Given the description of an element on the screen output the (x, y) to click on. 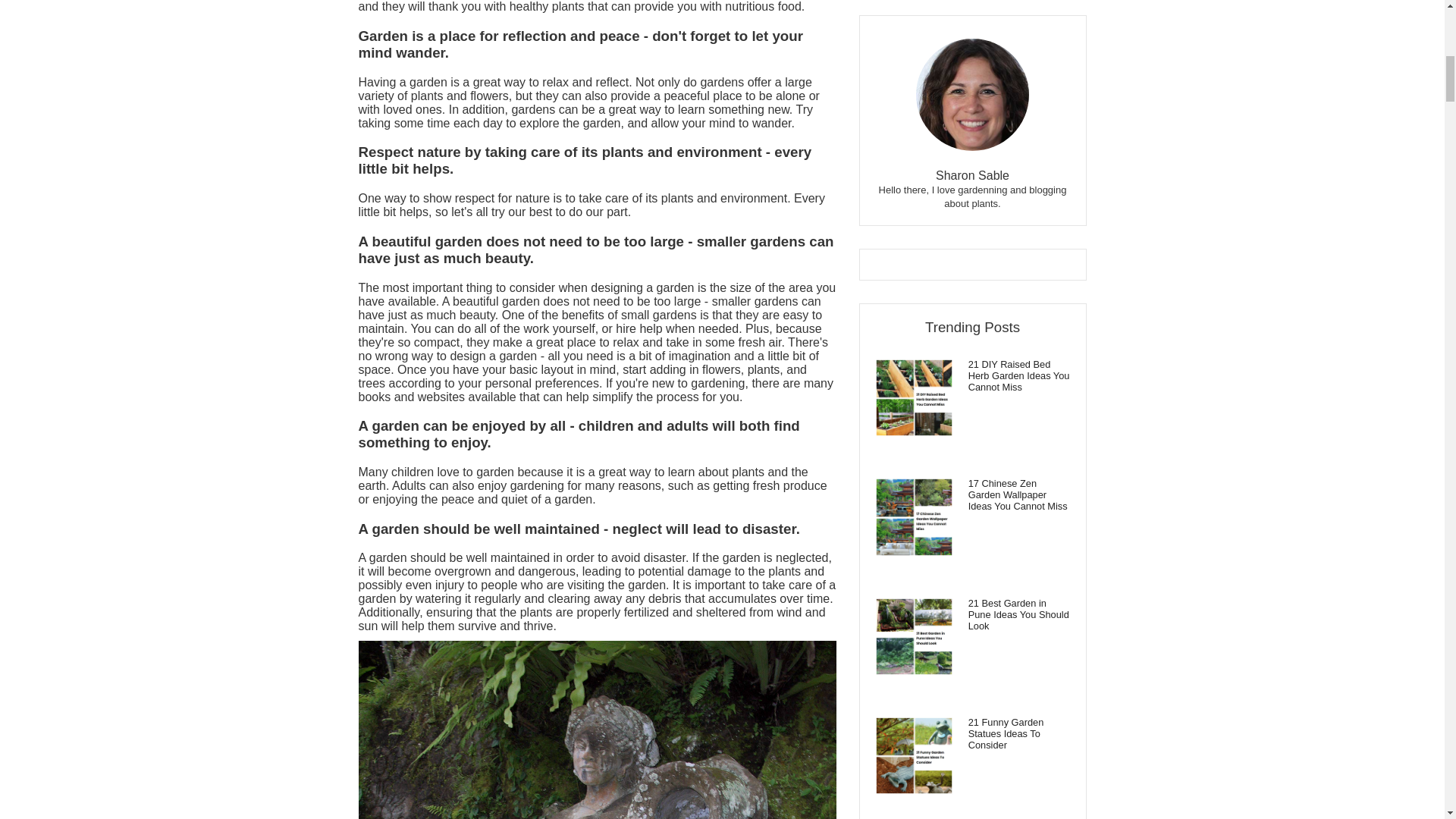
21 Best Garden in Pune Ideas You Should Look (972, 59)
21 Funny Garden Statues Ideas To Consider (972, 179)
22 How to Build a Vertical Garden Ideas Worth to Check (972, 298)
